Given the description of an element on the screen output the (x, y) to click on. 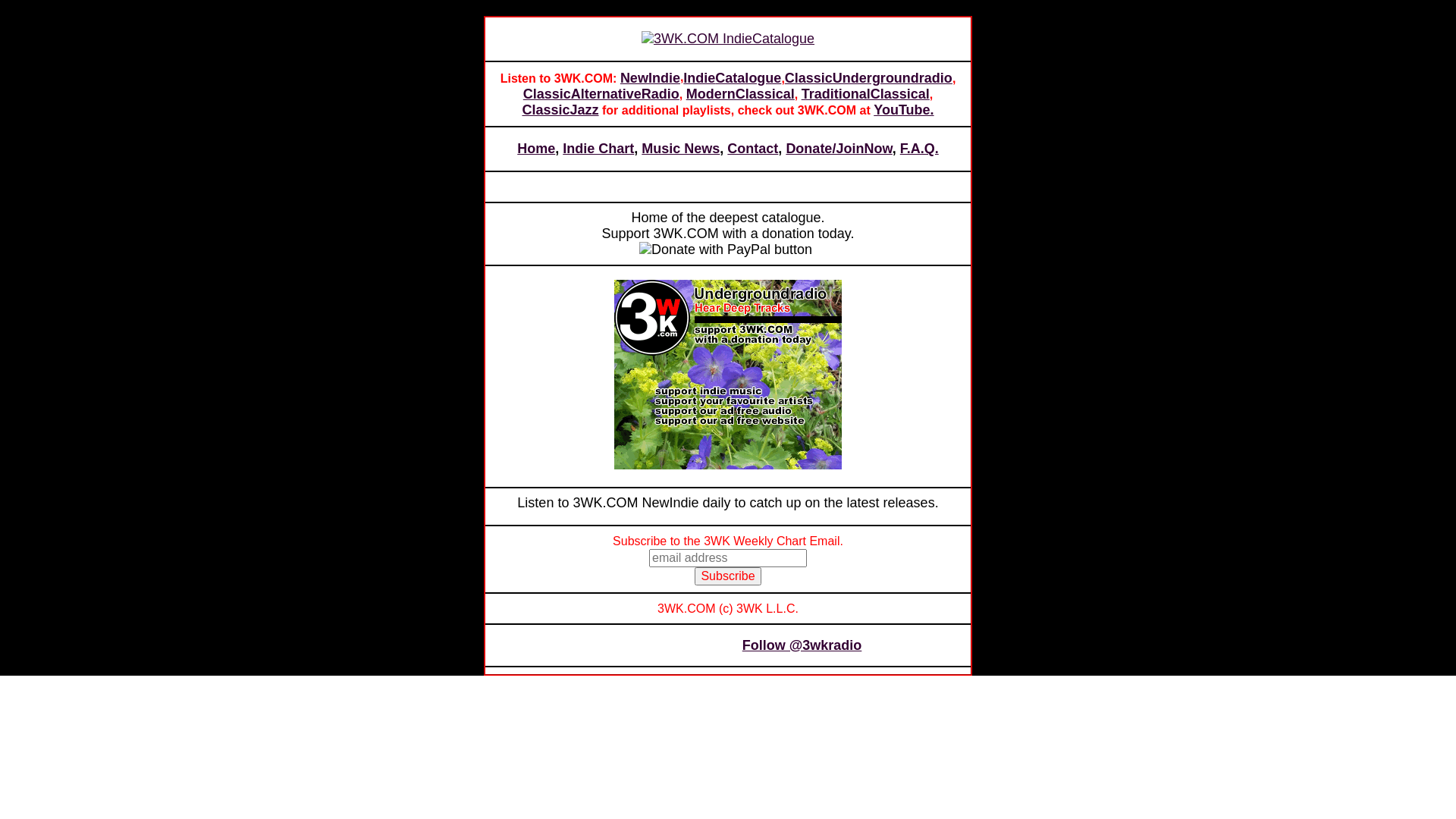
F.A.Q. Element type: text (919, 148)
NewIndie Element type: text (650, 78)
Contact Element type: text (752, 148)
Subscribe Element type: text (727, 576)
Indie Chart Element type: text (597, 148)
ClassicJazz Element type: text (559, 109)
PayPal - The safer, easier way to pay online! Element type: hover (725, 249)
Catalogue Element type: text (748, 77)
ModernClassical Element type: text (740, 93)
ClassicAlternativeRadio Element type: text (601, 93)
TraditionalClassical Element type: text (865, 93)
Indie Element type: text (699, 78)
Music News Element type: text (680, 148)
YouTube. Element type: text (903, 109)
Follow @3wkradio Element type: text (802, 645)
ClassicUndergroundradio
, Element type: text (870, 77)
Home Element type: text (536, 148)
Donate/JoinNow Element type: text (838, 148)
